Given the description of an element on the screen output the (x, y) to click on. 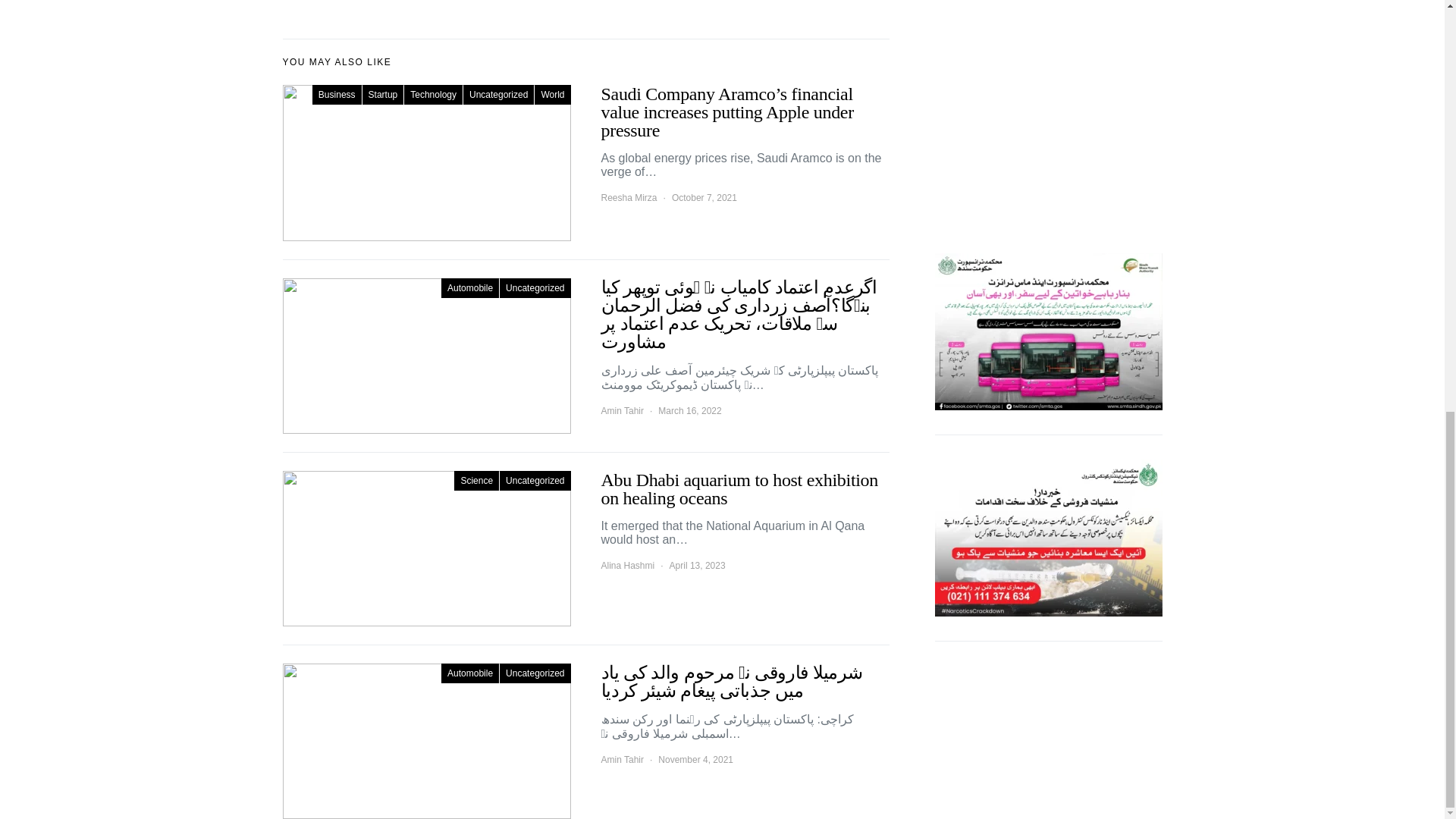
View all posts by Reesha Mirza (627, 197)
View all posts by Amin Tahir (621, 759)
View all posts by Amin Tahir (621, 410)
Anwar Maqsood (1047, 22)
View all posts by Alina Hashmi (626, 565)
